Given the description of an element on the screen output the (x, y) to click on. 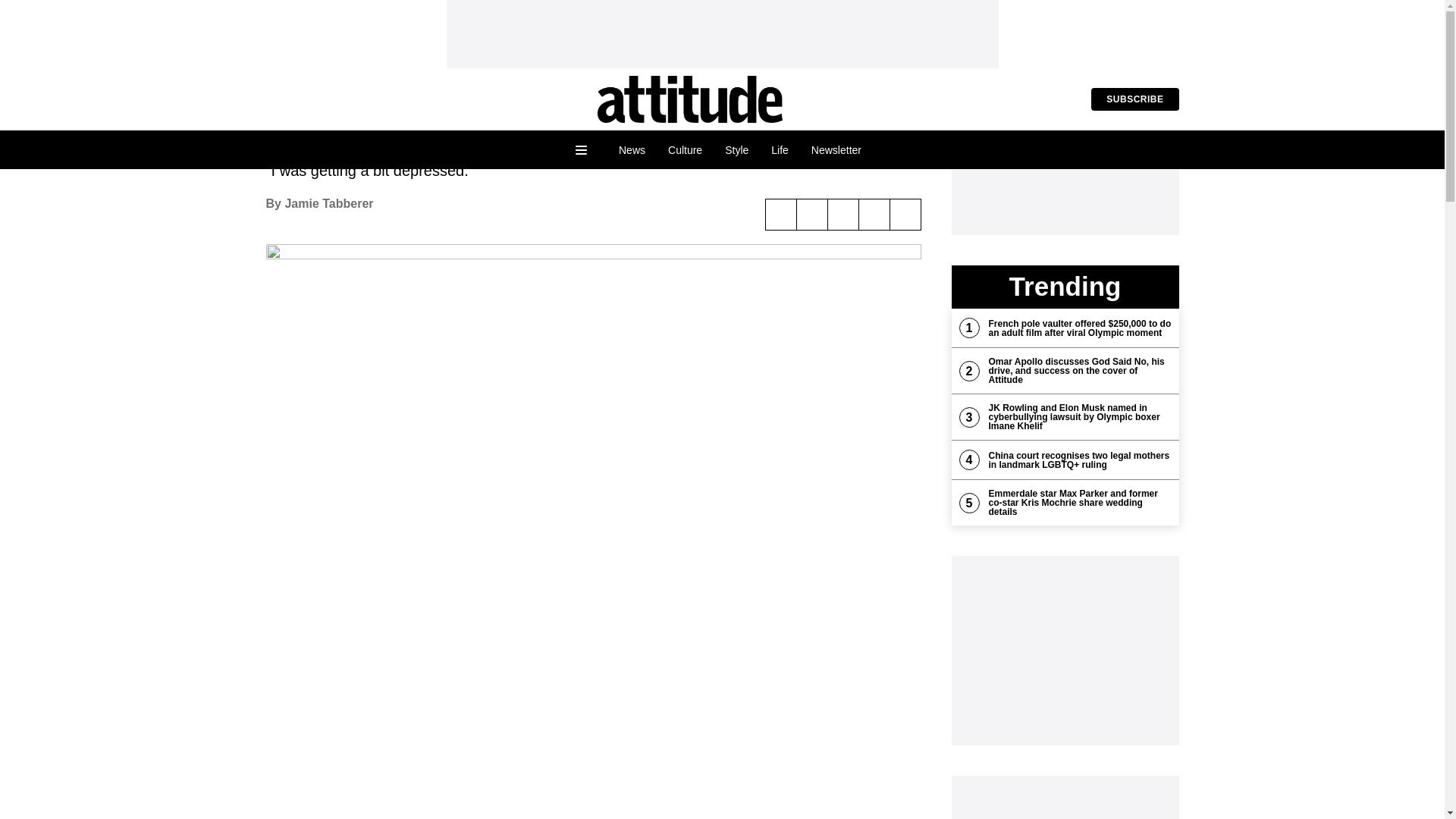
Skip to main content (61, 10)
News (631, 150)
Home (689, 99)
Culture (684, 150)
Style (736, 150)
Newsletter (835, 150)
SUBSCRIBE (1134, 99)
Life (779, 150)
